Given the description of an element on the screen output the (x, y) to click on. 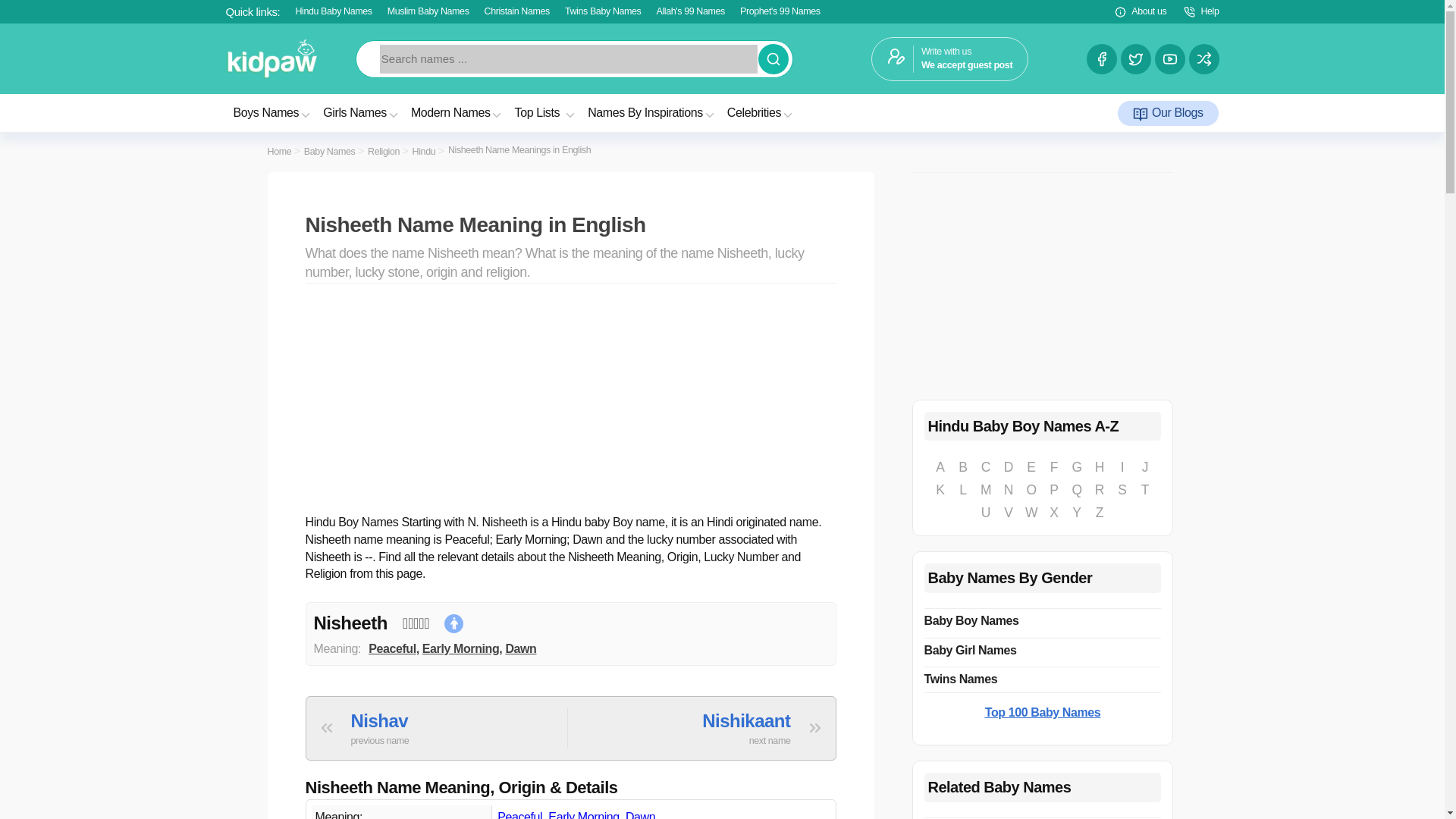
Nisheeth Name Meaning in English (569, 224)
Boys Name (272, 112)
Top Lists (948, 58)
Nishikaant (546, 112)
peaceful (762, 727)
About us (519, 814)
peaceful (1139, 11)
Prophet's 99 Names (392, 648)
Twins Baby Names (780, 11)
